Given the description of an element on the screen output the (x, y) to click on. 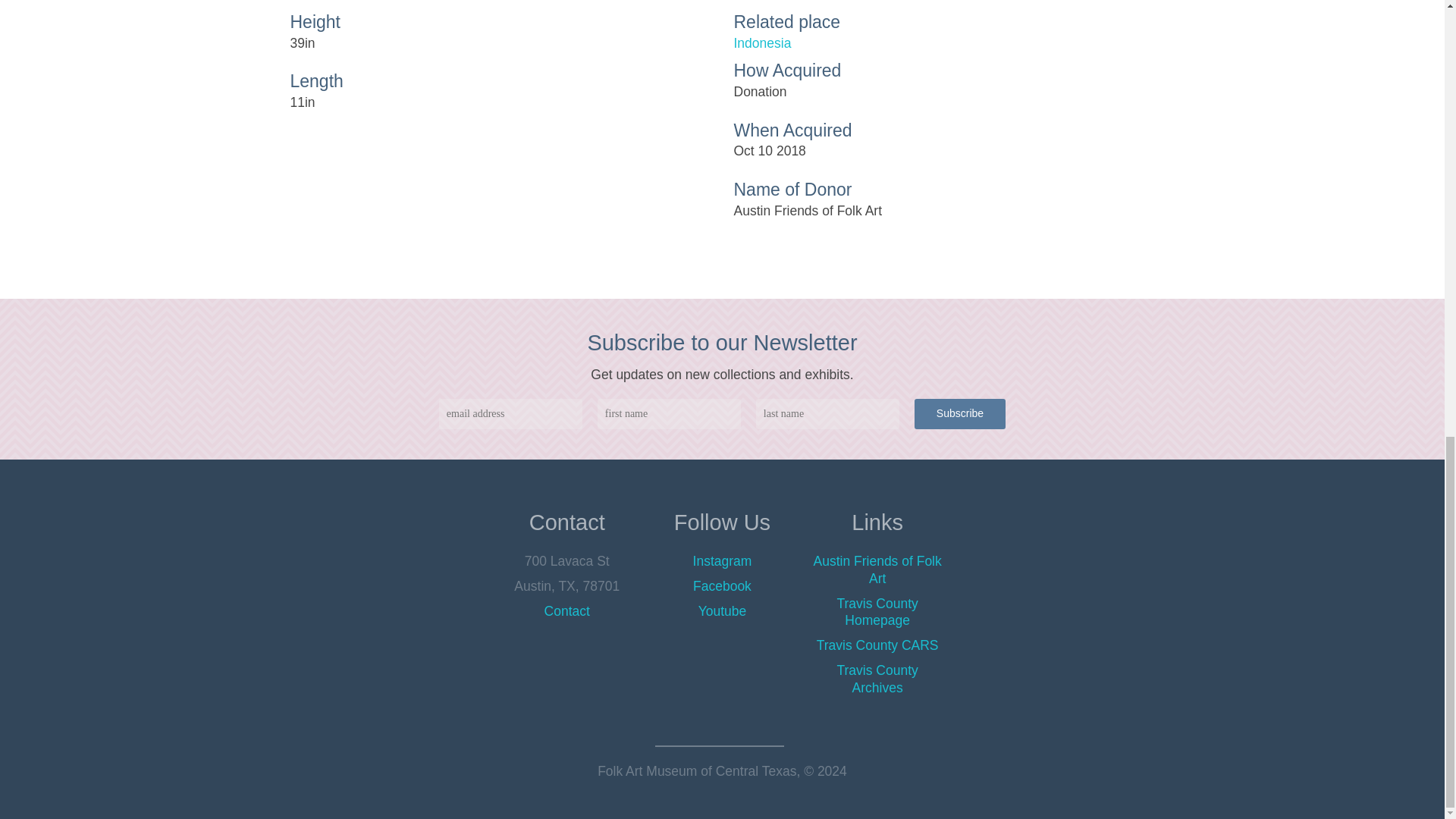
Travis County Archives (876, 678)
Facebook (722, 585)
Subscribe (960, 413)
Austin Friends of Folk Art (877, 569)
Youtube (722, 611)
Travis County CARS (877, 645)
Indonesia (943, 43)
Subscribe (960, 413)
Instagram (722, 560)
Travis County Homepage (876, 612)
Contact (566, 611)
